Given the description of an element on the screen output the (x, y) to click on. 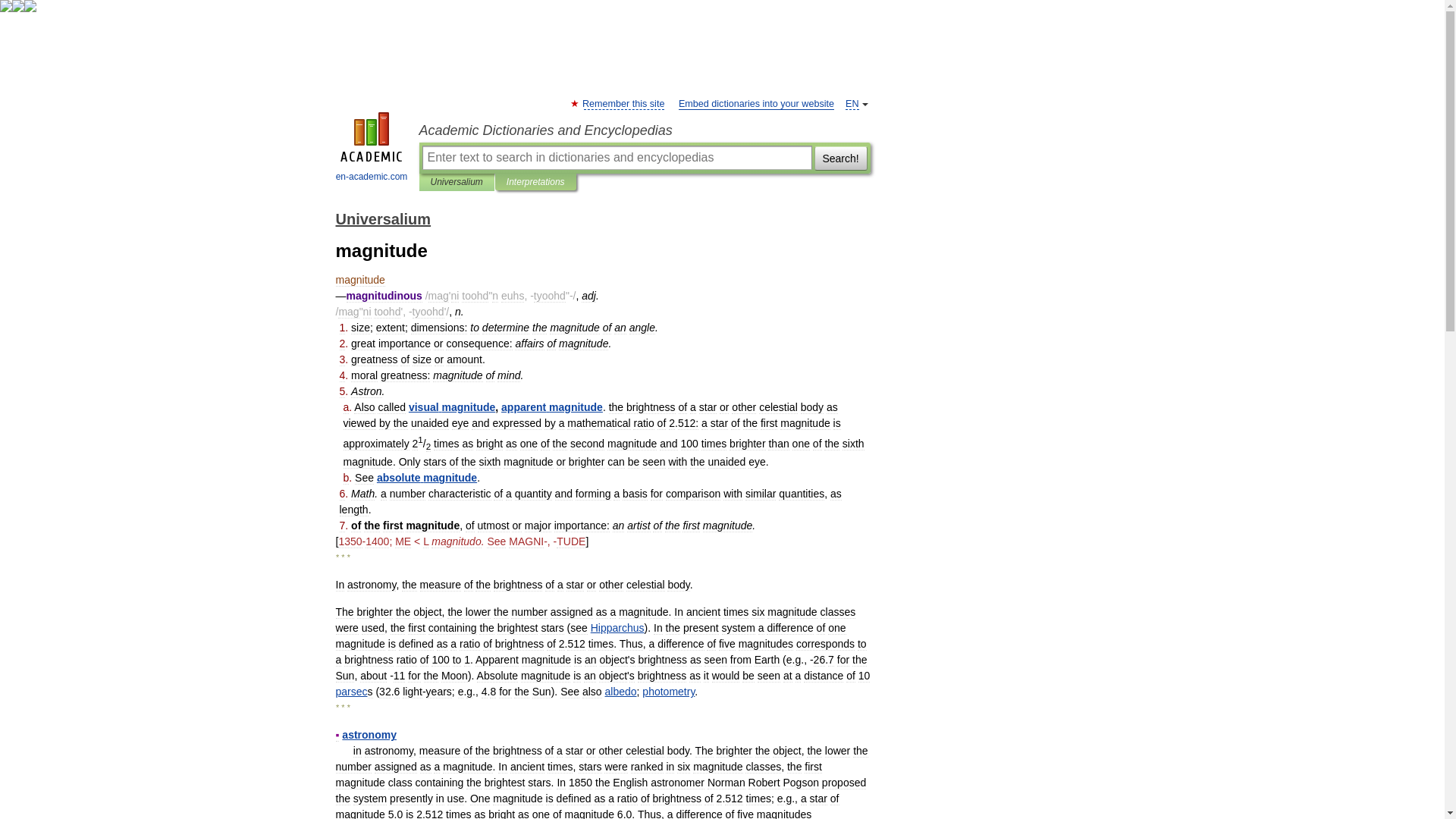
Academic Dictionaries and Encyclopedias (644, 130)
Hipparchus (618, 627)
Remember this site (623, 103)
Embed dictionaries into your website (756, 103)
Enter text to search in dictionaries and encyclopedias (616, 157)
absolute magnitude (427, 477)
astronomy (369, 734)
apparent magnitude (551, 407)
Universalium (456, 181)
visual magnitude (452, 407)
